Given the description of an element on the screen output the (x, y) to click on. 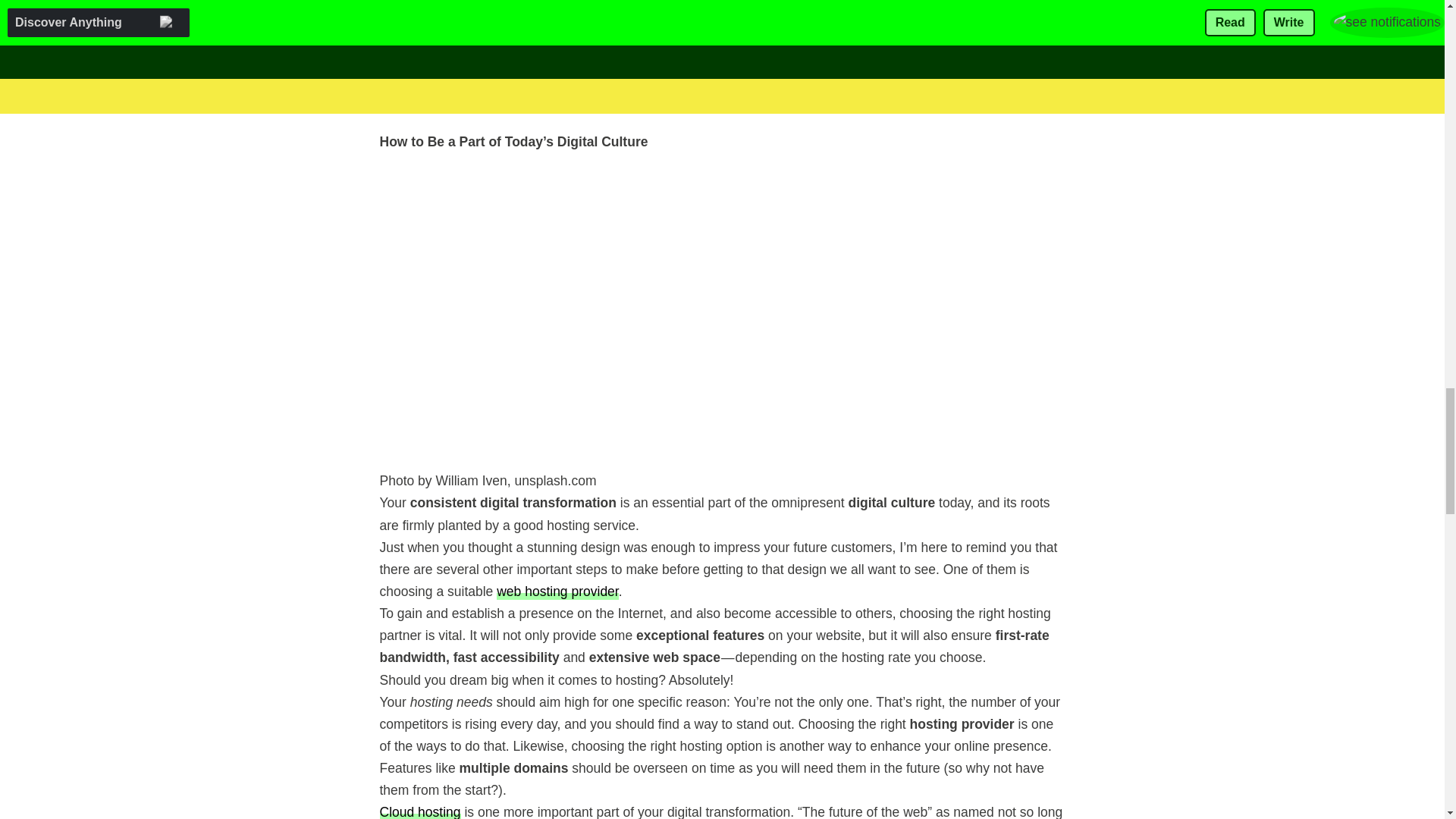
app indexing (968, 57)
startups (744, 100)
web hosting provider (557, 590)
Cloud hosting (419, 811)
